Given the description of an element on the screen output the (x, y) to click on. 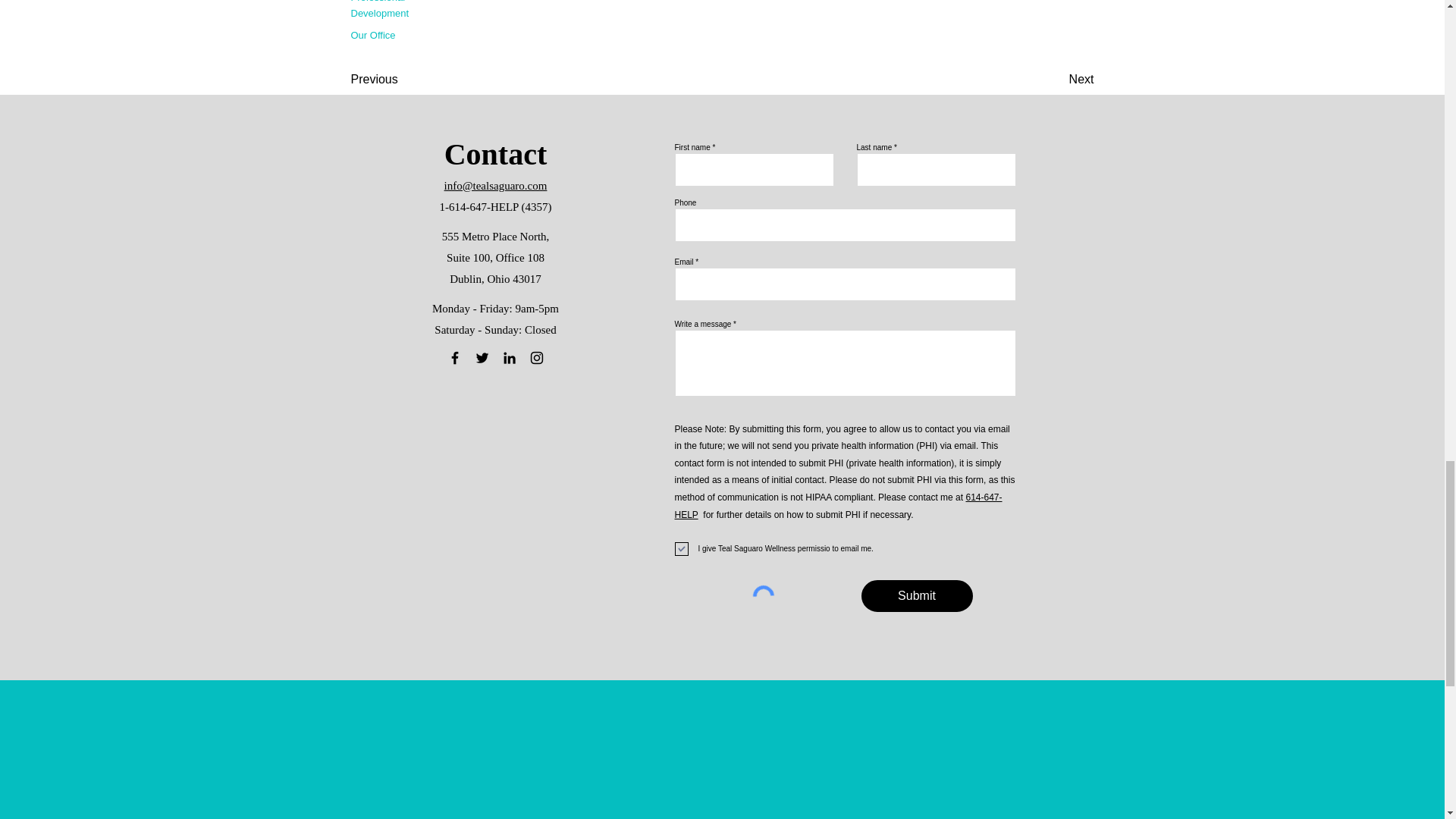
614-647-HELP (839, 506)
Previous (399, 79)
Next (1055, 79)
Submit (916, 595)
